Given the description of an element on the screen output the (x, y) to click on. 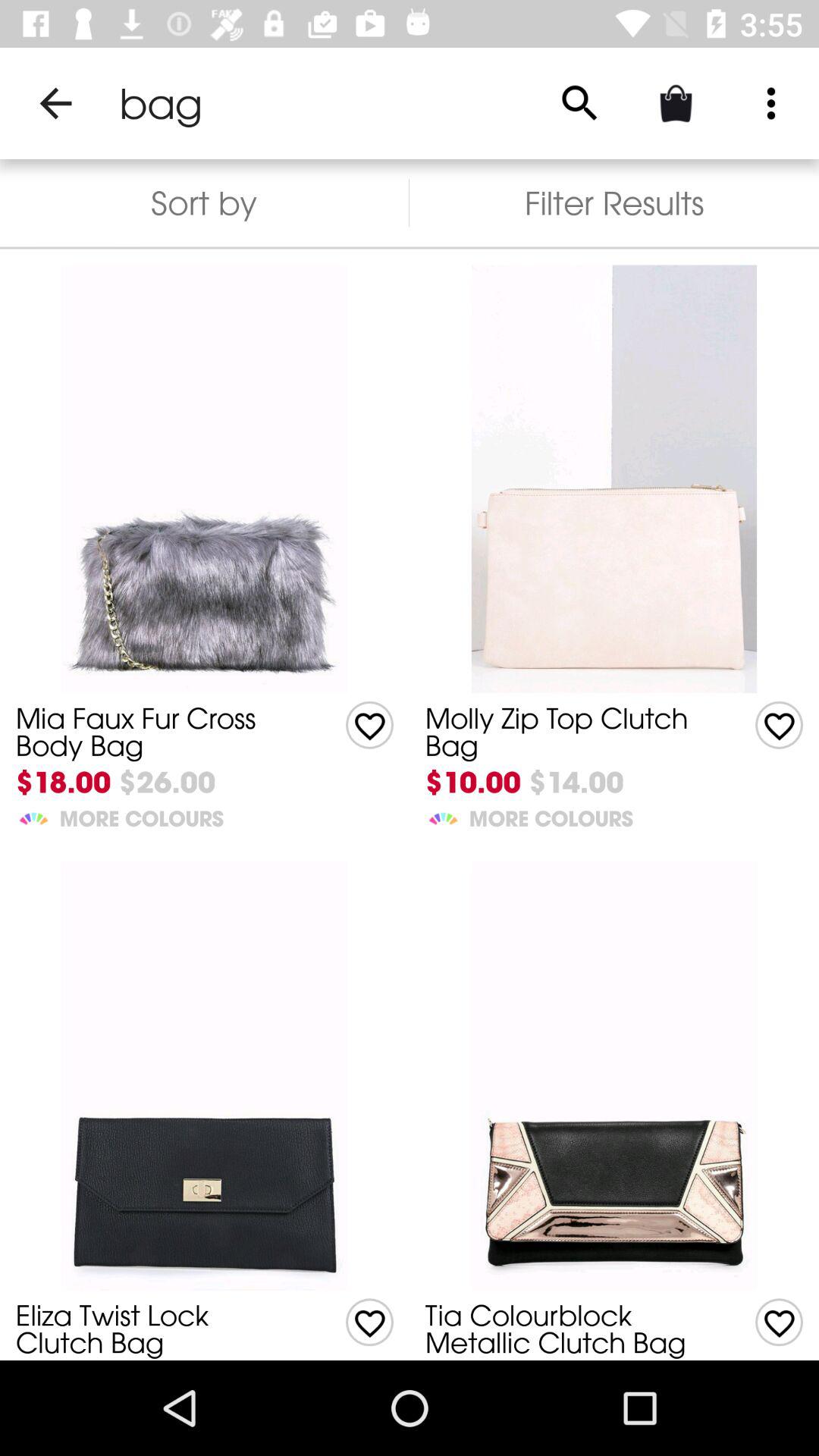
launch the item below $18.00 item (33, 815)
